Given the description of an element on the screen output the (x, y) to click on. 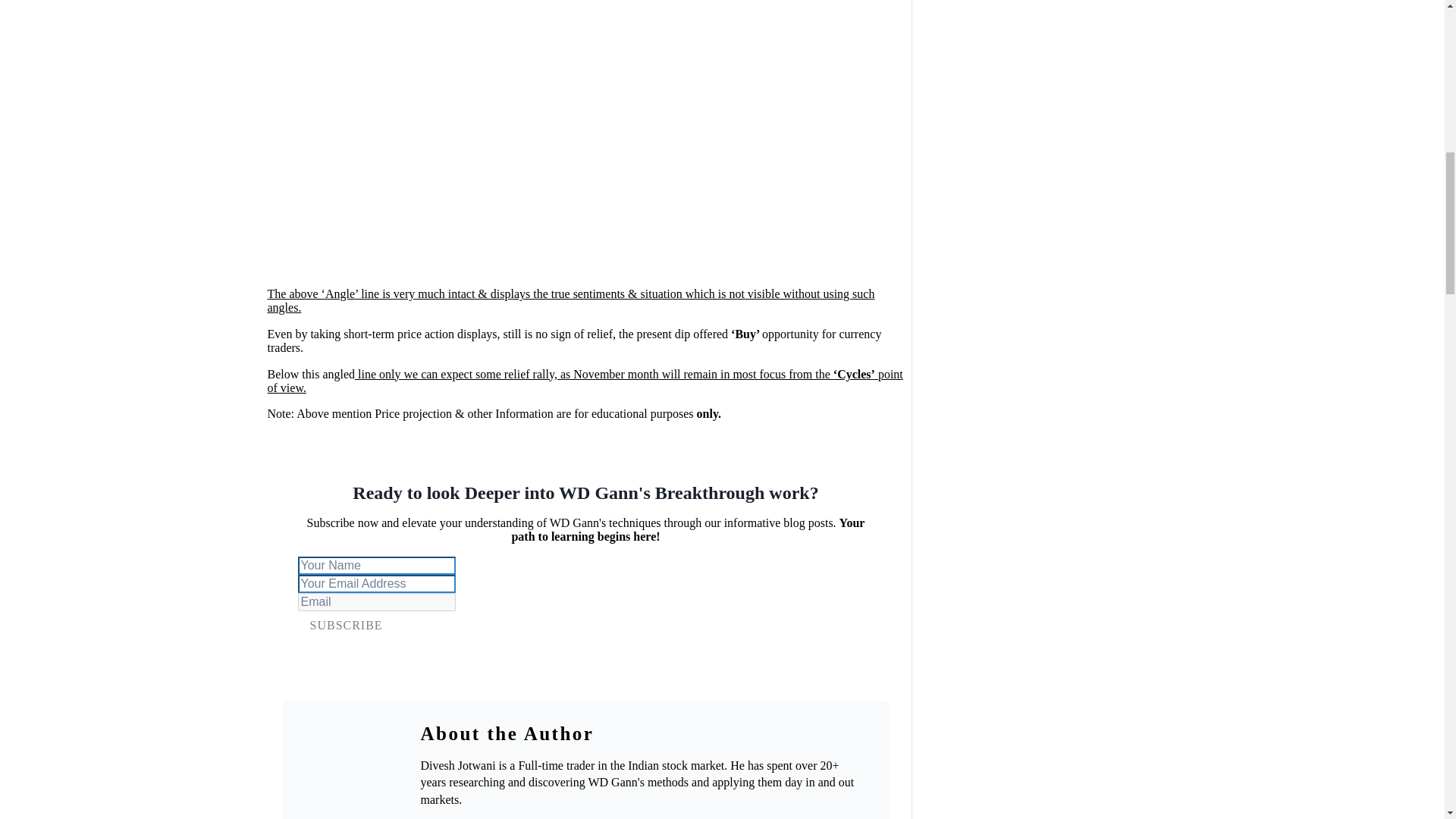
INR-Daily (492, 137)
